Given the description of an element on the screen output the (x, y) to click on. 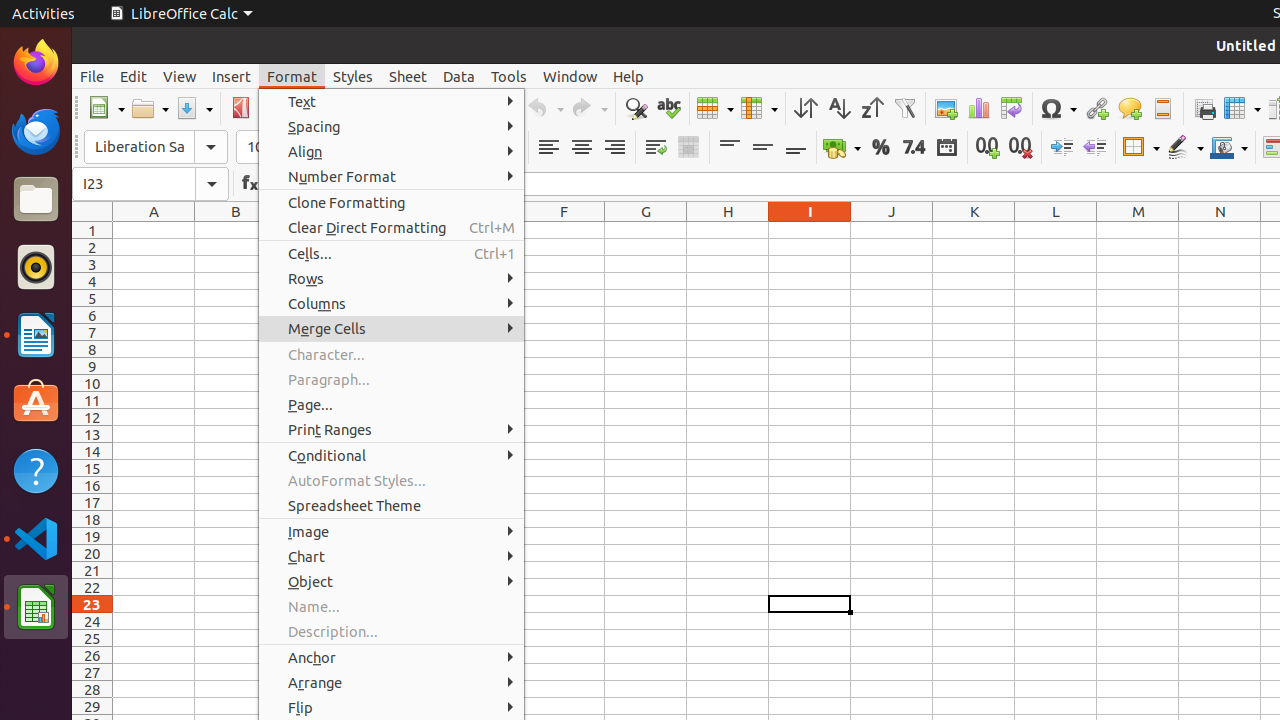
K1 Element type: table-cell (974, 230)
Image Element type: menu (391, 531)
Date Element type: push-button (946, 147)
